Given the description of an element on the screen output the (x, y) to click on. 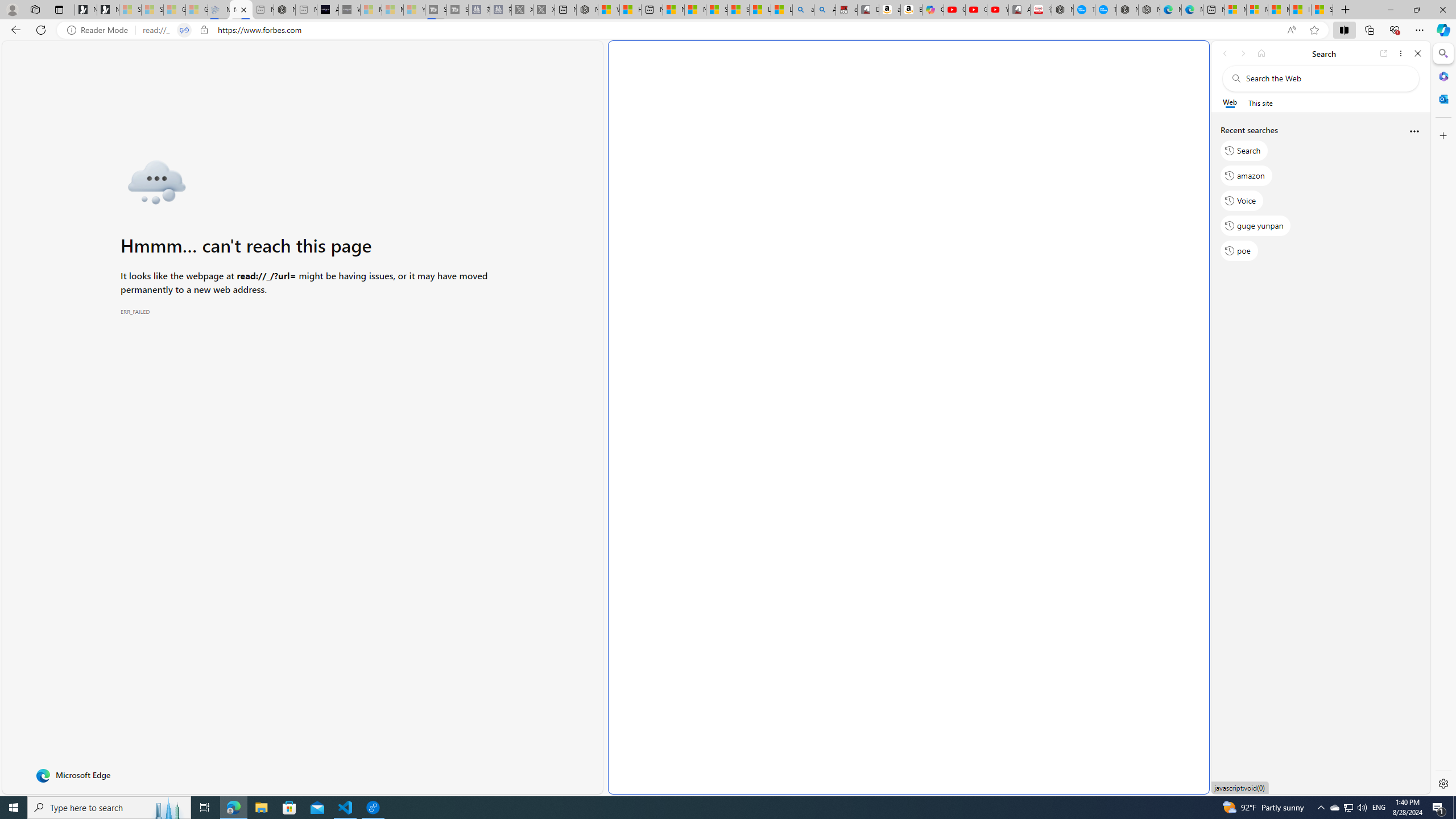
guge yunpan (1255, 225)
Open link in new tab (1383, 53)
I Gained 20 Pounds of Muscle in 30 Days! | Watch (1300, 9)
Address and search bar (709, 29)
Side bar (1443, 418)
Microsoft account | Privacy (1256, 9)
